Given the description of an element on the screen output the (x, y) to click on. 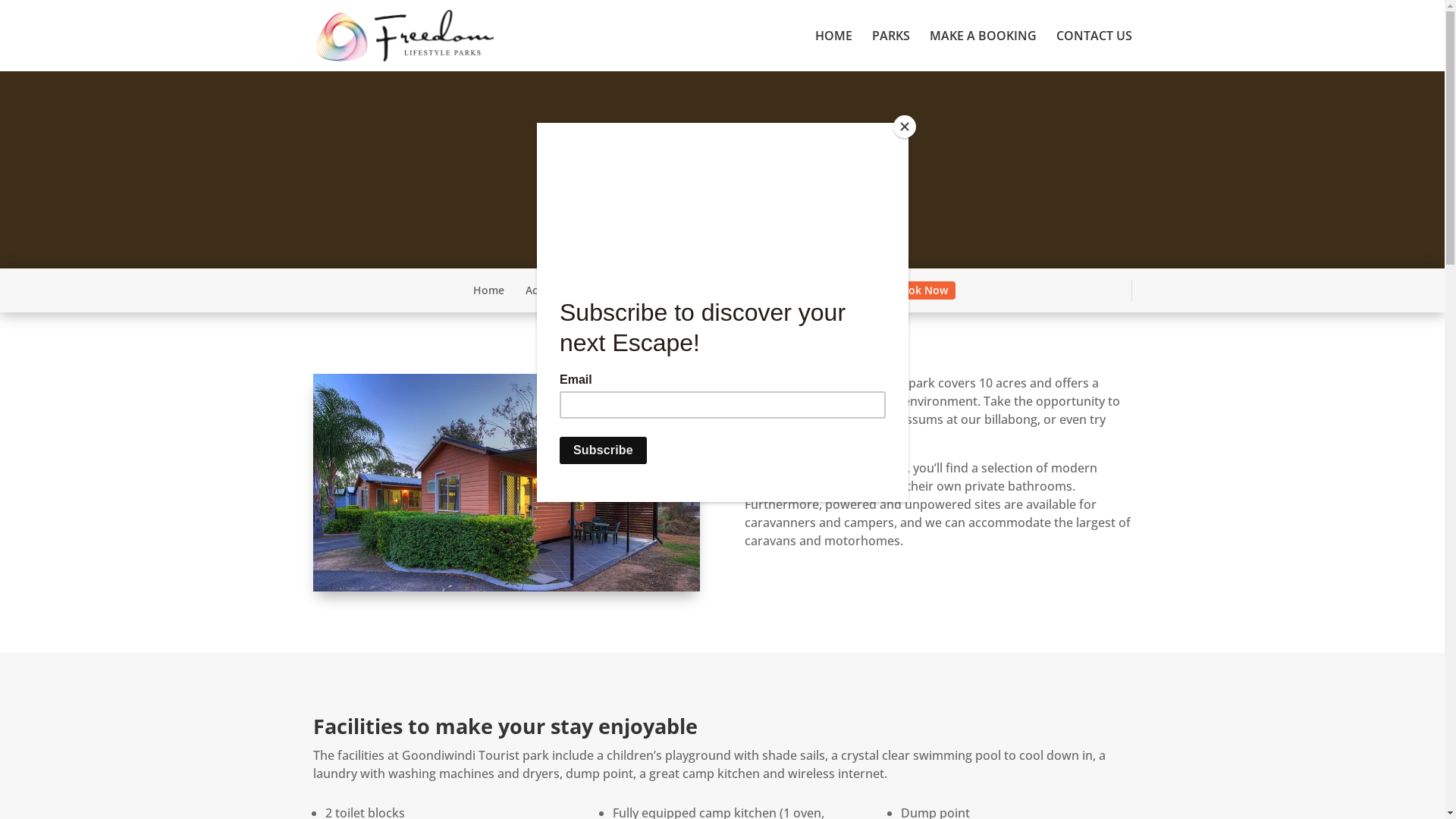
Park Map Element type: text (656, 290)
Book Now Element type: text (921, 290)
Home Element type: text (488, 290)
Accommodation Element type: text (567, 290)
MAKE A BOOKING Element type: text (982, 50)
CONTACT US Element type: text (1093, 50)
Contact Element type: text (853, 290)
HOME Element type: text (832, 50)
Things To Do Element type: text (735, 290)
PARKS Element type: text (891, 50)
FAQ Element type: text (801, 290)
